Given the description of an element on the screen output the (x, y) to click on. 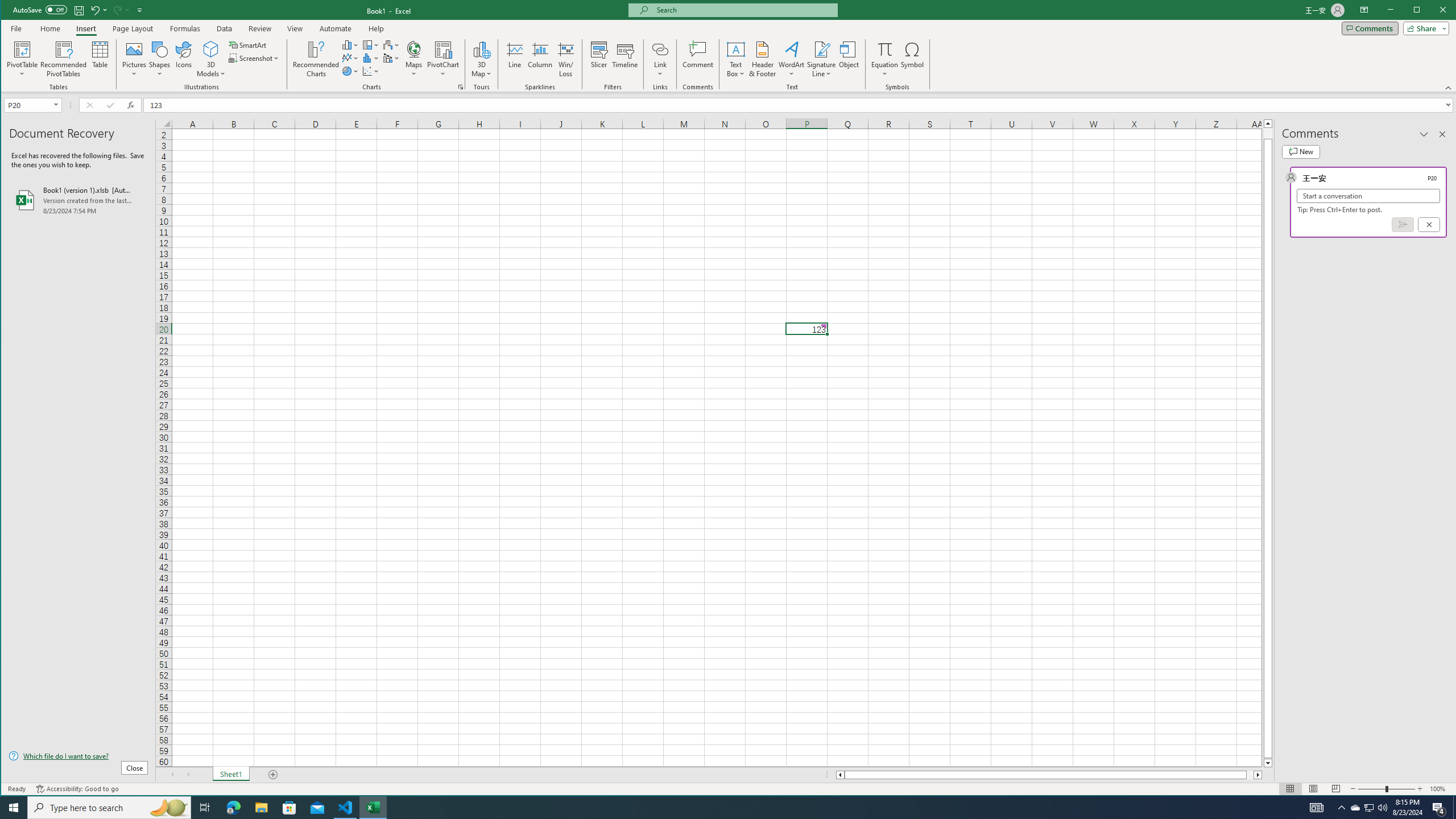
Icons (183, 59)
Screenshot (254, 57)
3D Map (481, 48)
PivotTable (22, 59)
New comment (1300, 151)
Insert Line or Area Chart (350, 57)
